Given the description of an element on the screen output the (x, y) to click on. 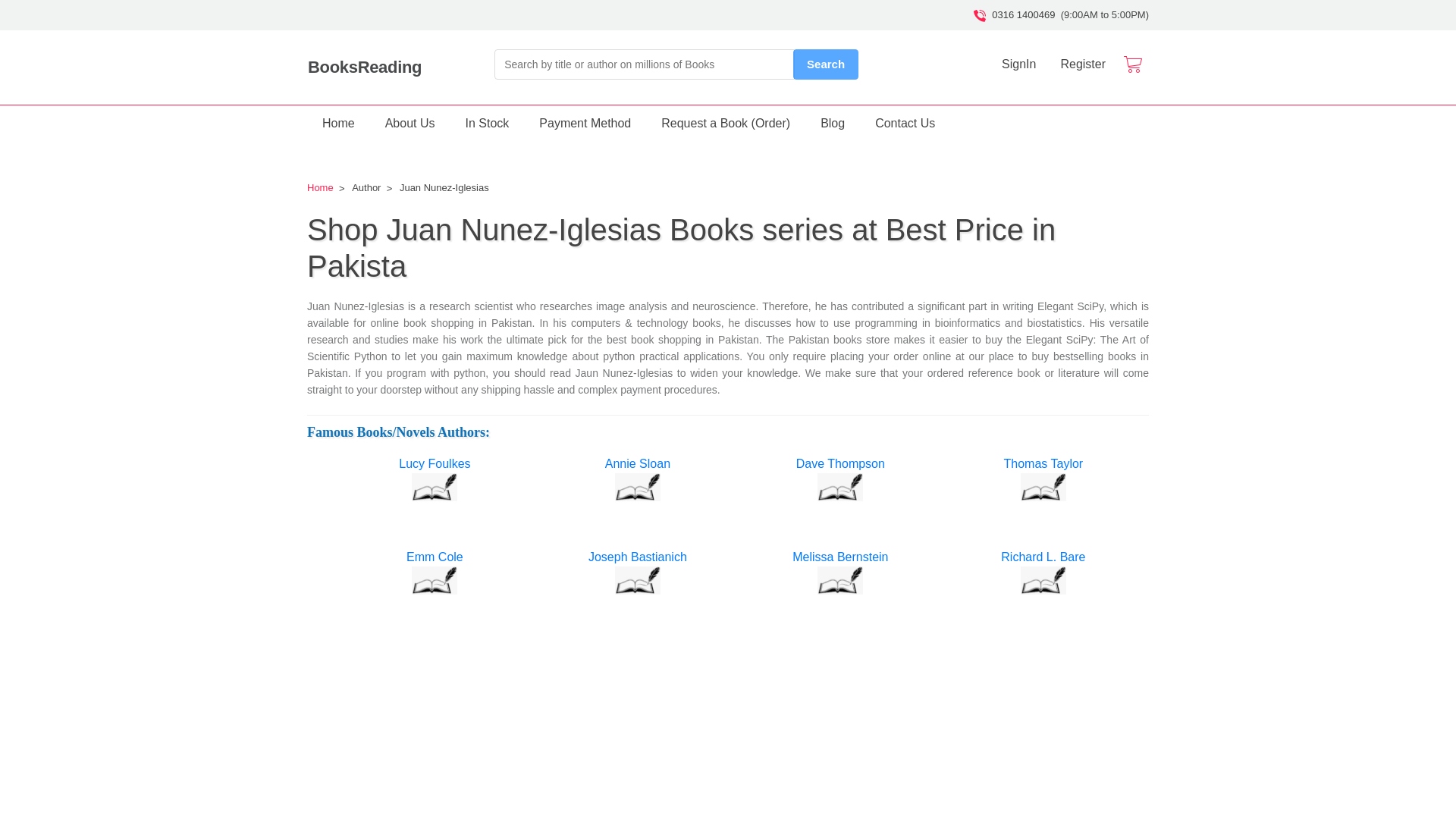
Lucy Foulkes (434, 487)
In Stock (486, 123)
Register (1083, 63)
SignIn (1019, 63)
Payment Method (585, 123)
Annie Sloan (637, 487)
Joseph Bastianich  (637, 580)
Joseph Bastianich (637, 556)
Blog (832, 123)
Contact Us (905, 123)
